Given the description of an element on the screen output the (x, y) to click on. 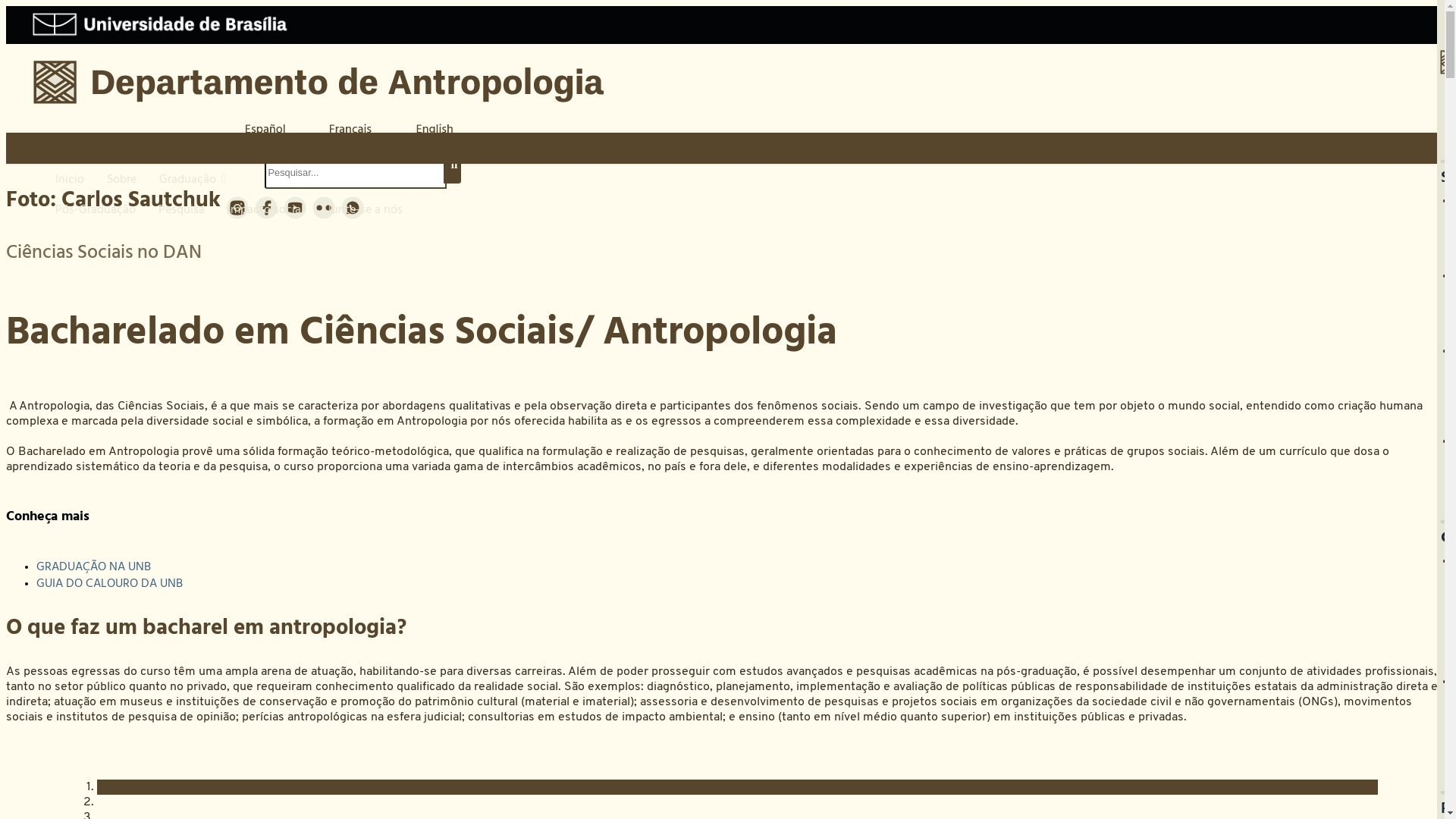
Inicio Element type: text (69, 178)
English (United Kingdom) Element type: hover (434, 129)
GUIA DO CALOURO DA UNB Element type: text (109, 582)
